Given the description of an element on the screen output the (x, y) to click on. 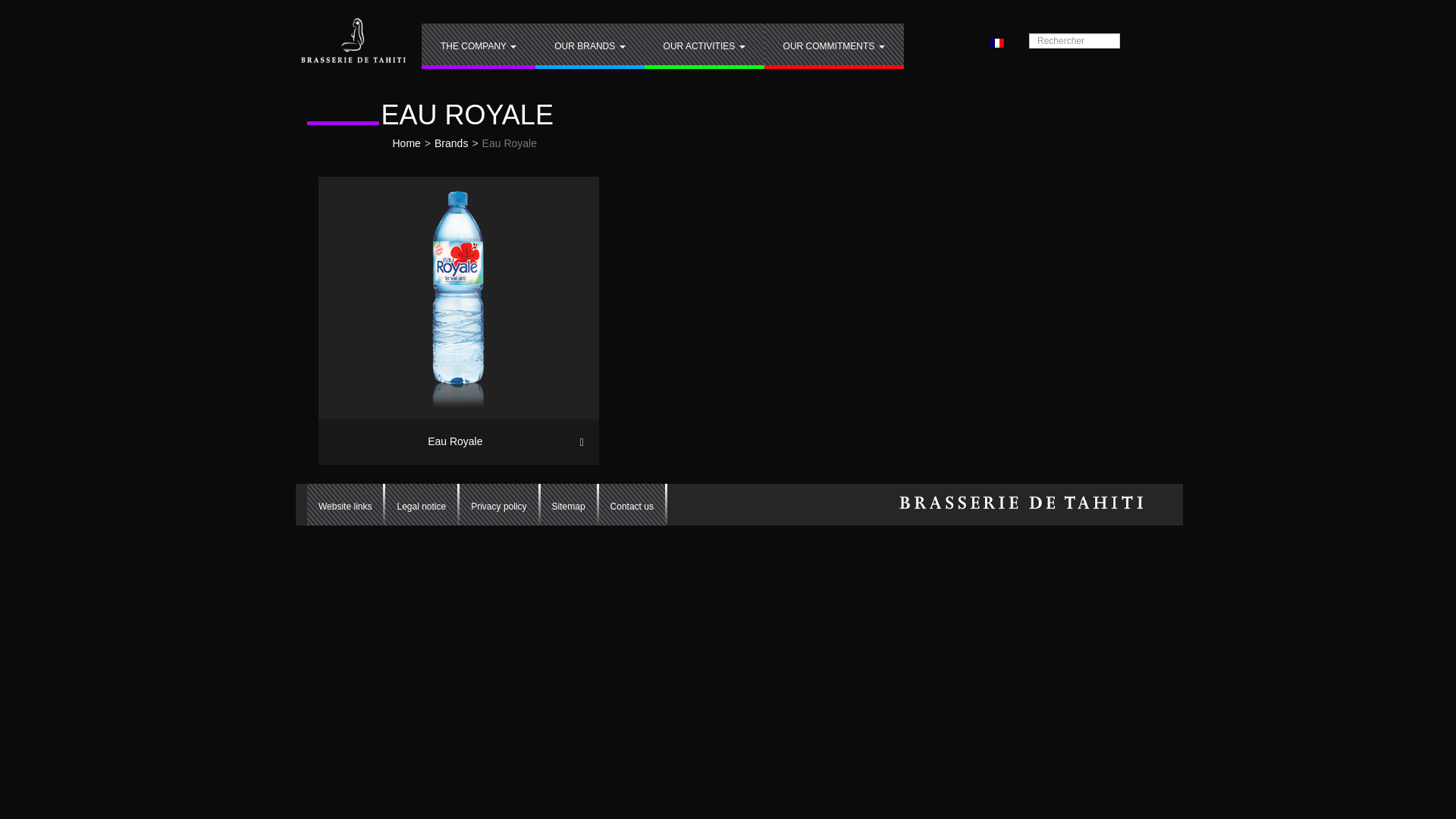
The company (478, 45)
OUR BRANDS (589, 45)
THE COMPANY (478, 45)
Our brands (589, 45)
